Given the description of an element on the screen output the (x, y) to click on. 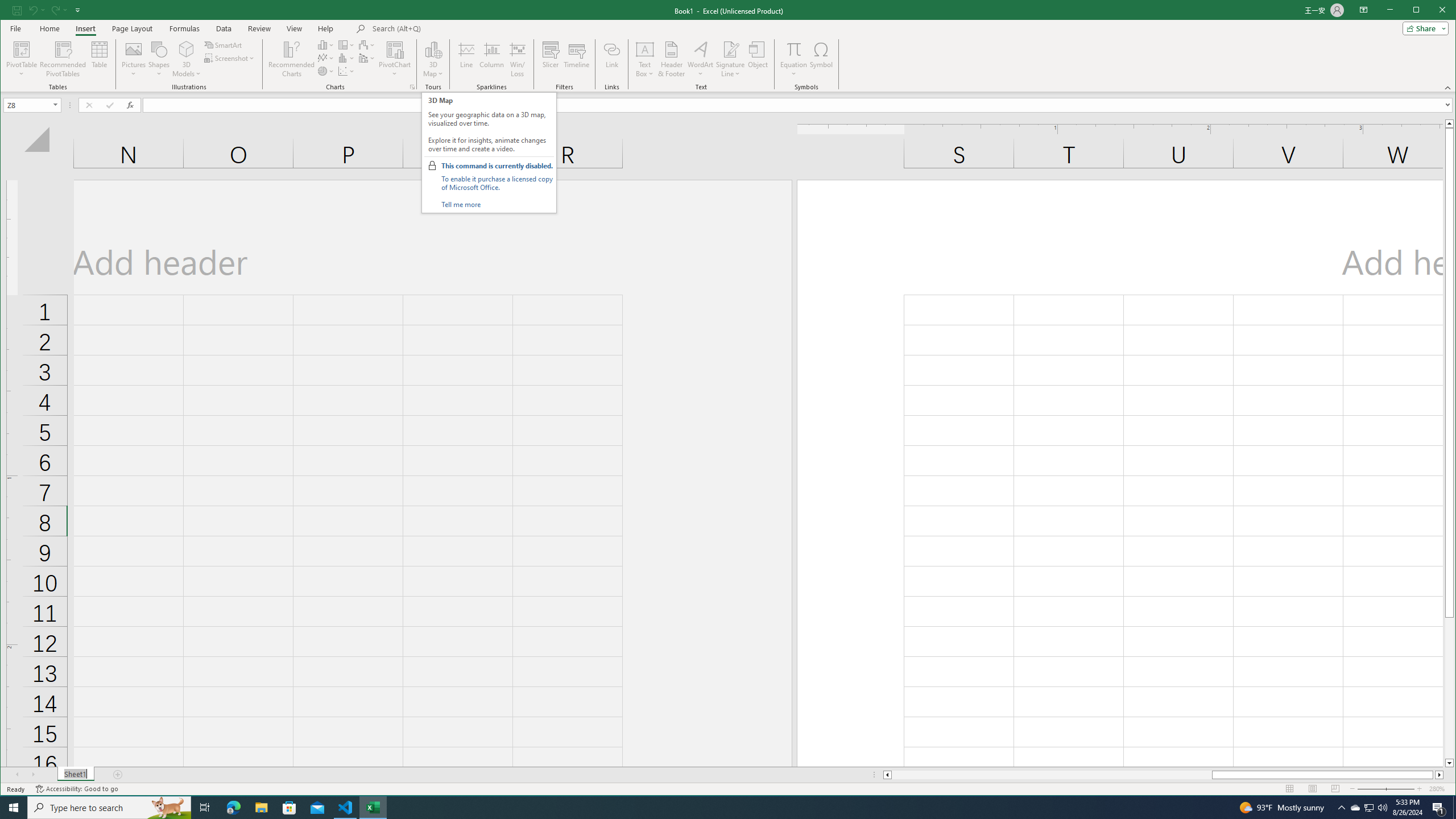
Excel - 1 running window (373, 807)
Equation (793, 59)
Recommended PivotTables (1368, 807)
WordArt (63, 59)
3D Map (699, 59)
Q2790: 100% (432, 59)
